Given the description of an element on the screen output the (x, y) to click on. 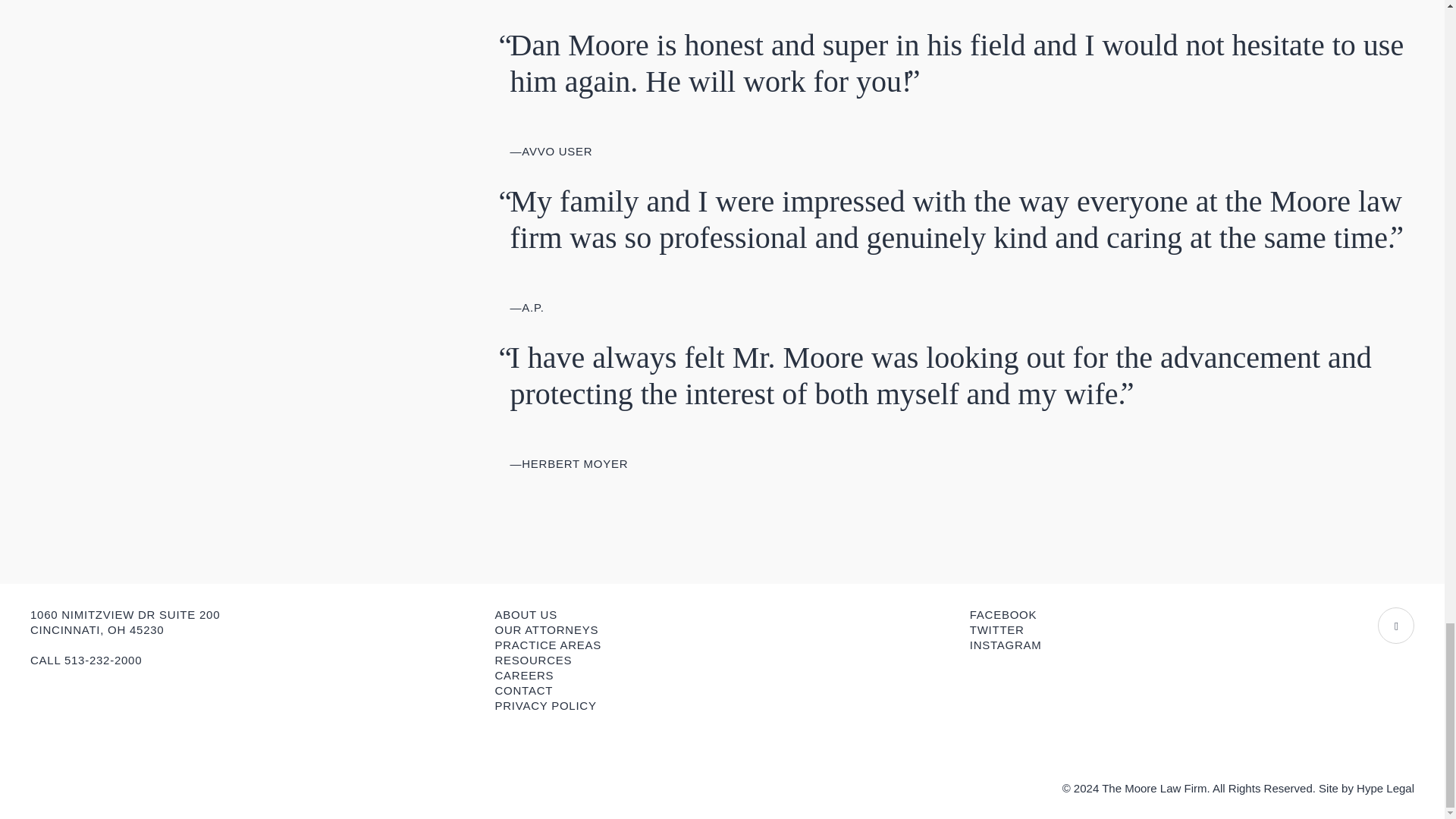
TWITTER (997, 629)
INSTAGRAM (1005, 644)
OUR ATTORNEYS (546, 629)
FACEBOOK (1002, 614)
CAREERS (524, 675)
RESOURCES (533, 659)
PRACTICE AREAS (548, 644)
CONTACT (524, 689)
PRIVACY POLICY (545, 705)
ABOUT US (525, 614)
